Given the description of an element on the screen output the (x, y) to click on. 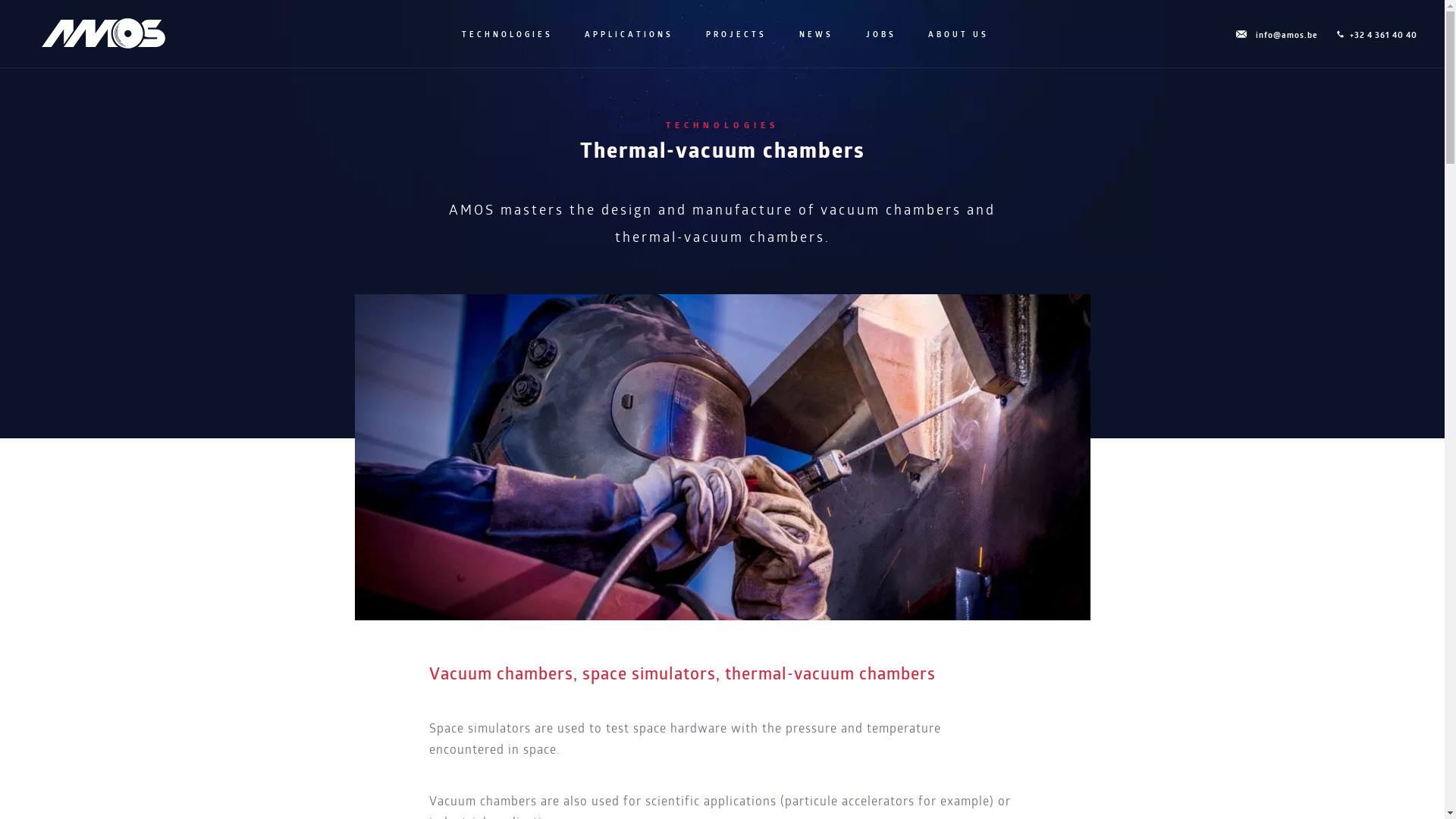
JOBS Element type: text (879, 35)
+32 4 361 40 40 Element type: text (1375, 35)
TECHNOLOGIES Element type: text (505, 35)
APPLICATIONS Element type: text (627, 35)
info@amos.be Element type: text (1275, 35)
PROJECTS Element type: text (734, 35)
ABOUT US Element type: text (956, 35)
NEWS Element type: text (814, 35)
